Given the description of an element on the screen output the (x, y) to click on. 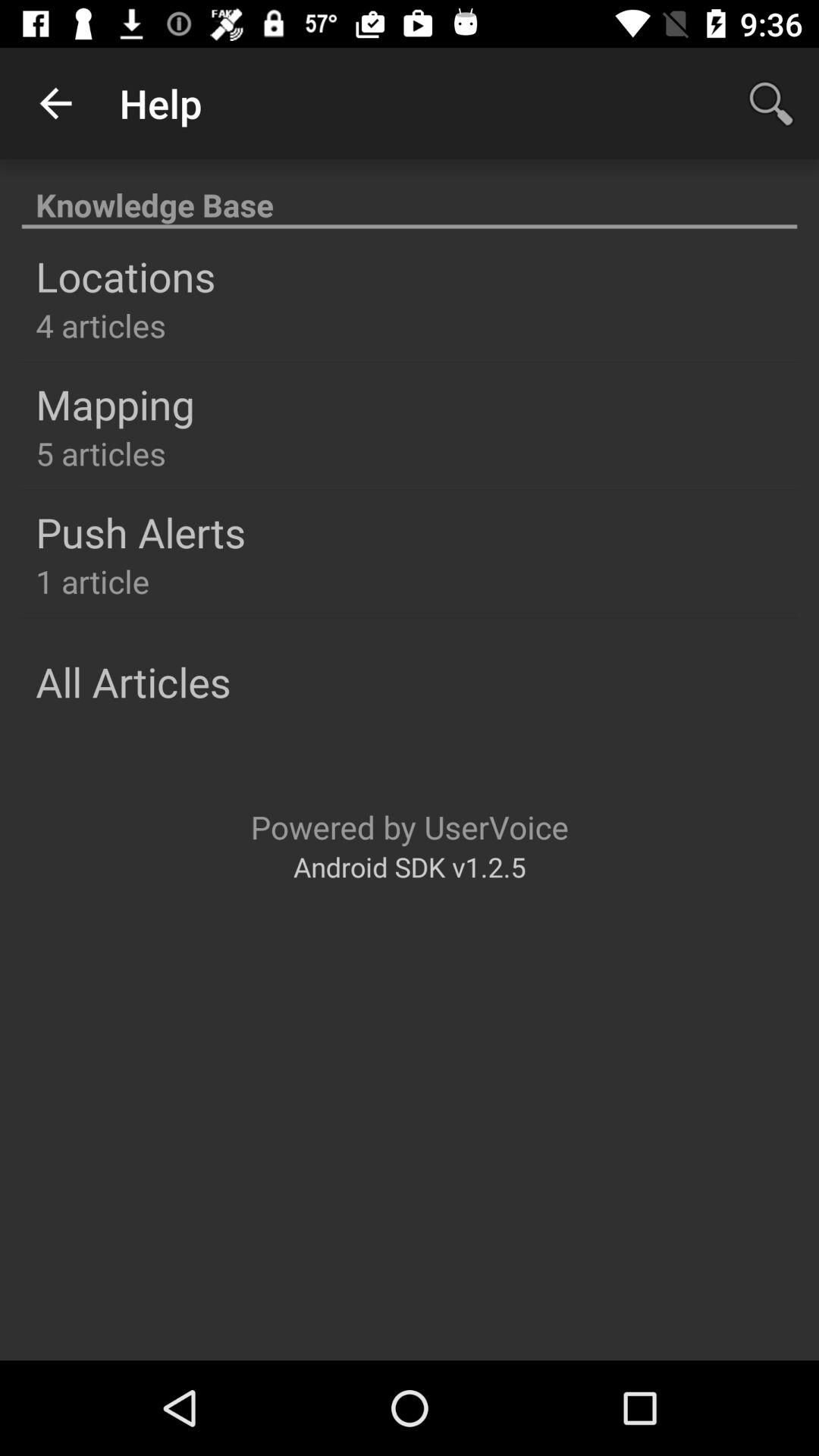
press 1 article icon (92, 580)
